Given the description of an element on the screen output the (x, y) to click on. 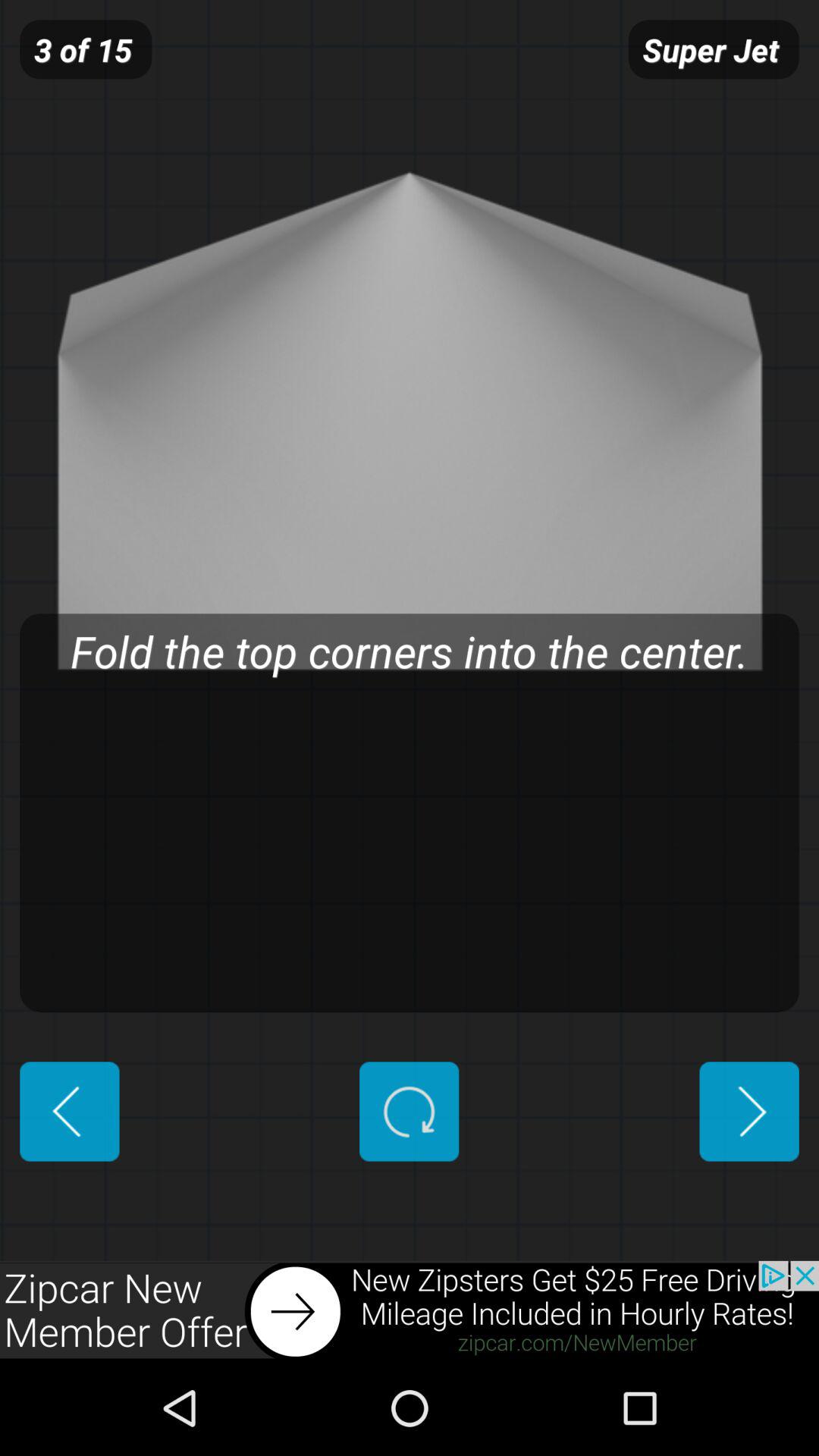
reload (408, 1111)
